Given the description of an element on the screen output the (x, y) to click on. 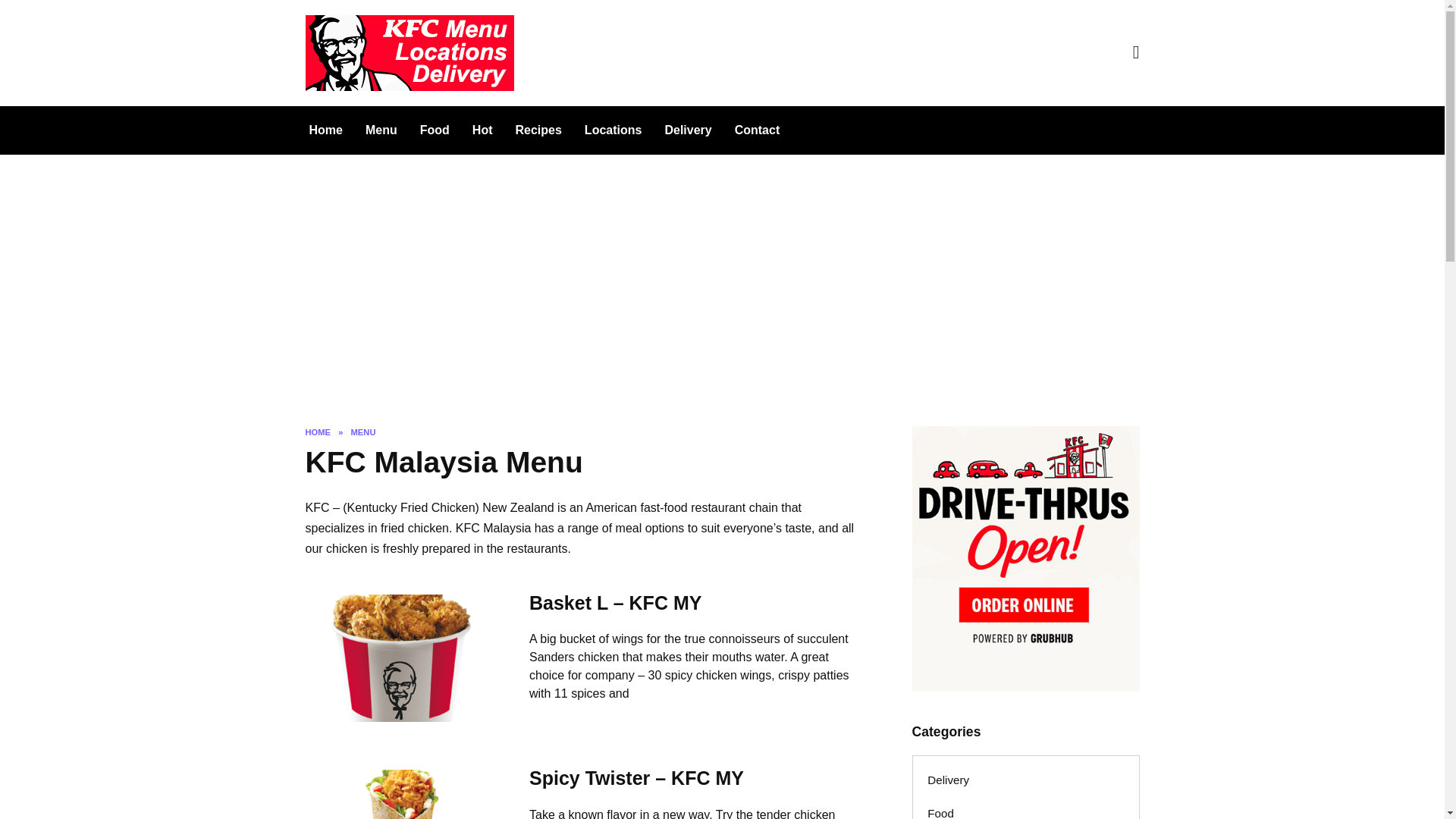
HOME (317, 431)
Contact (757, 130)
Locations (613, 130)
Delivery (687, 130)
MENU (362, 431)
Recipes (537, 130)
Food (435, 130)
Menu (381, 130)
Home (325, 130)
Hot (482, 130)
